Given the description of an element on the screen output the (x, y) to click on. 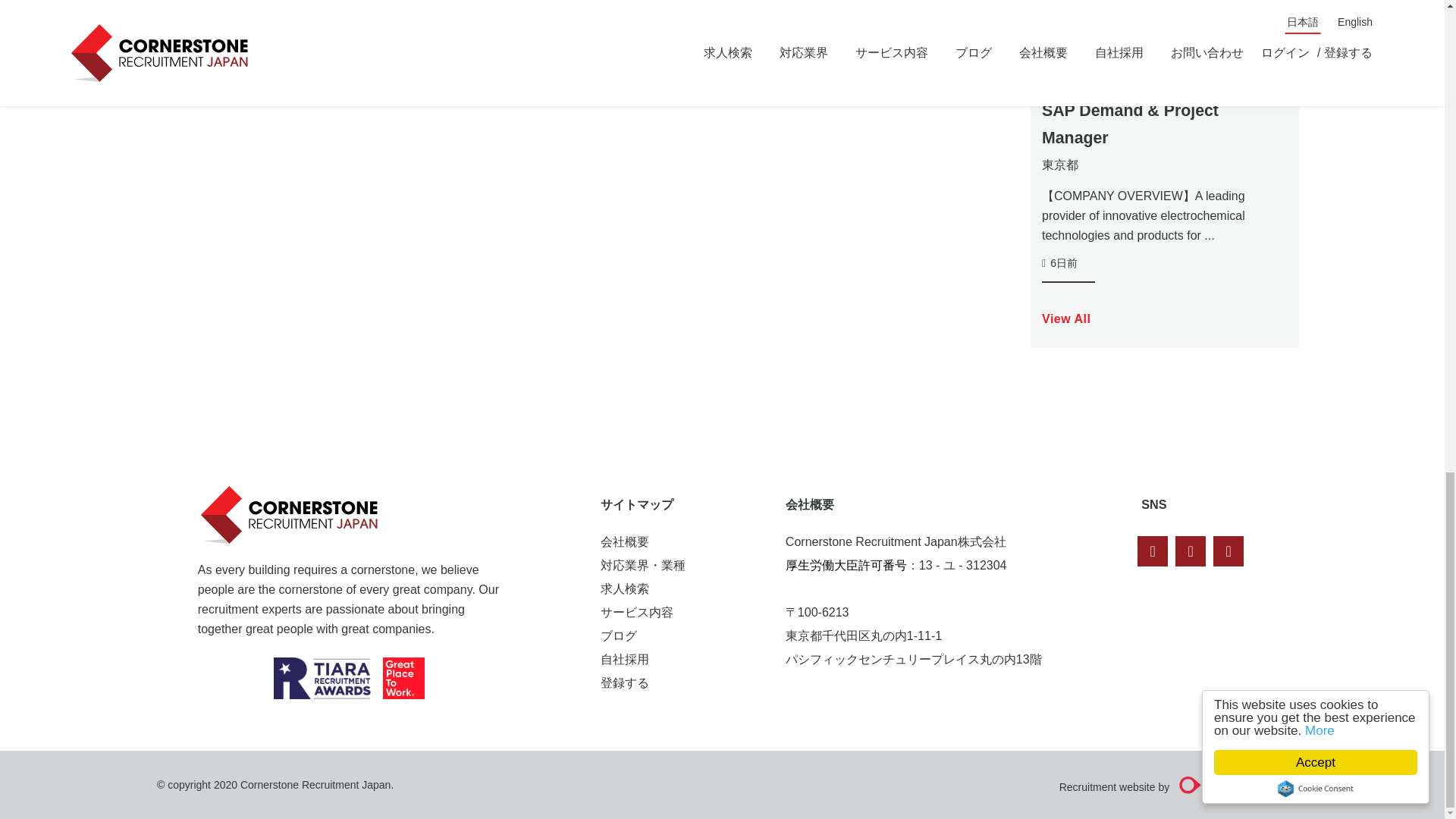
LinkedIn (1152, 551)
Instagram (1227, 551)
Go to the Homepage (292, 514)
Youtube (1189, 551)
